Given the description of an element on the screen output the (x, y) to click on. 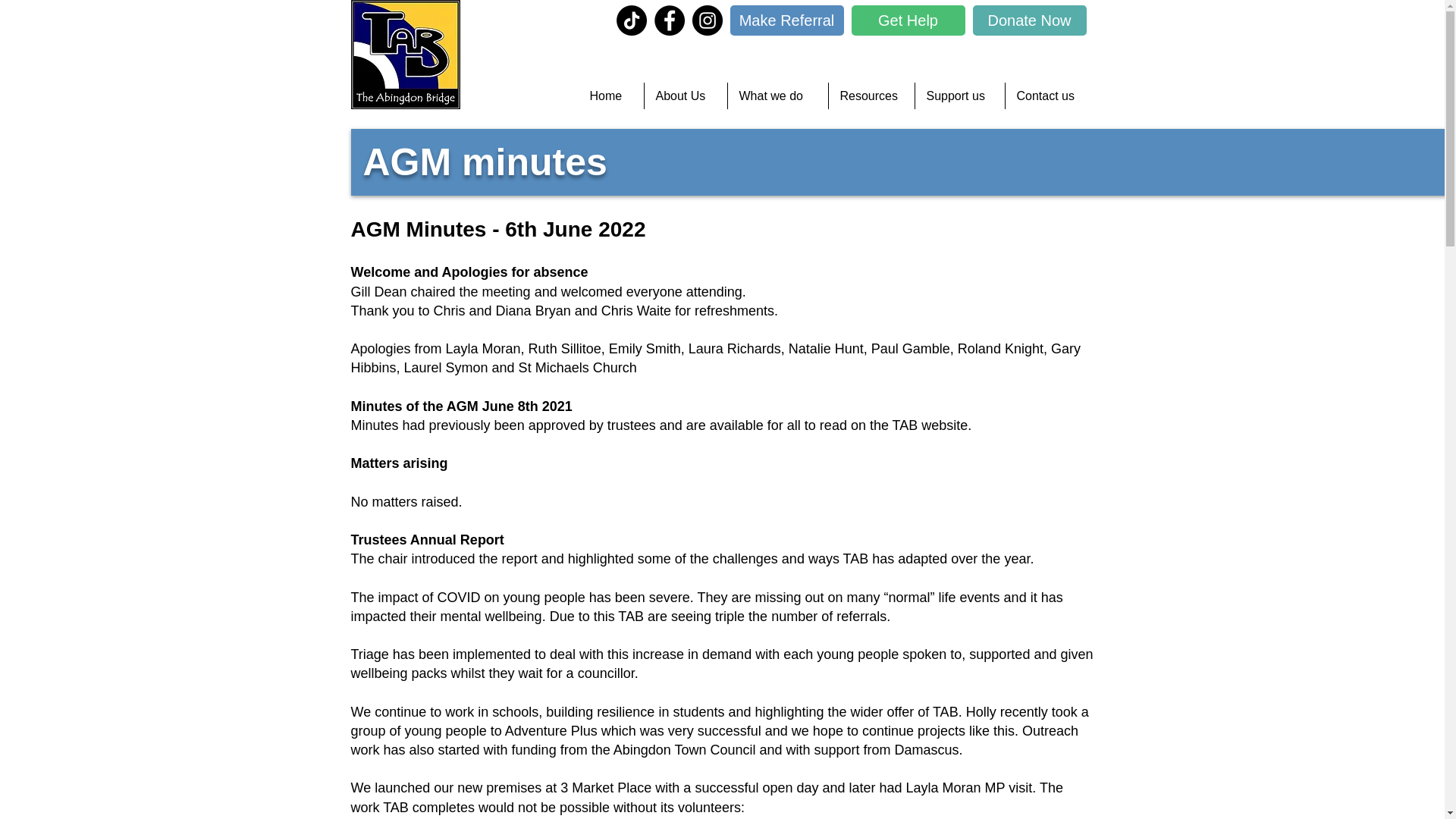
Support us (959, 95)
Home (610, 95)
Resources (871, 95)
Make Referral (786, 20)
Get Help (906, 20)
What we do (778, 95)
Donate Now (1029, 20)
Contact us (1050, 95)
